Given the description of an element on the screen output the (x, y) to click on. 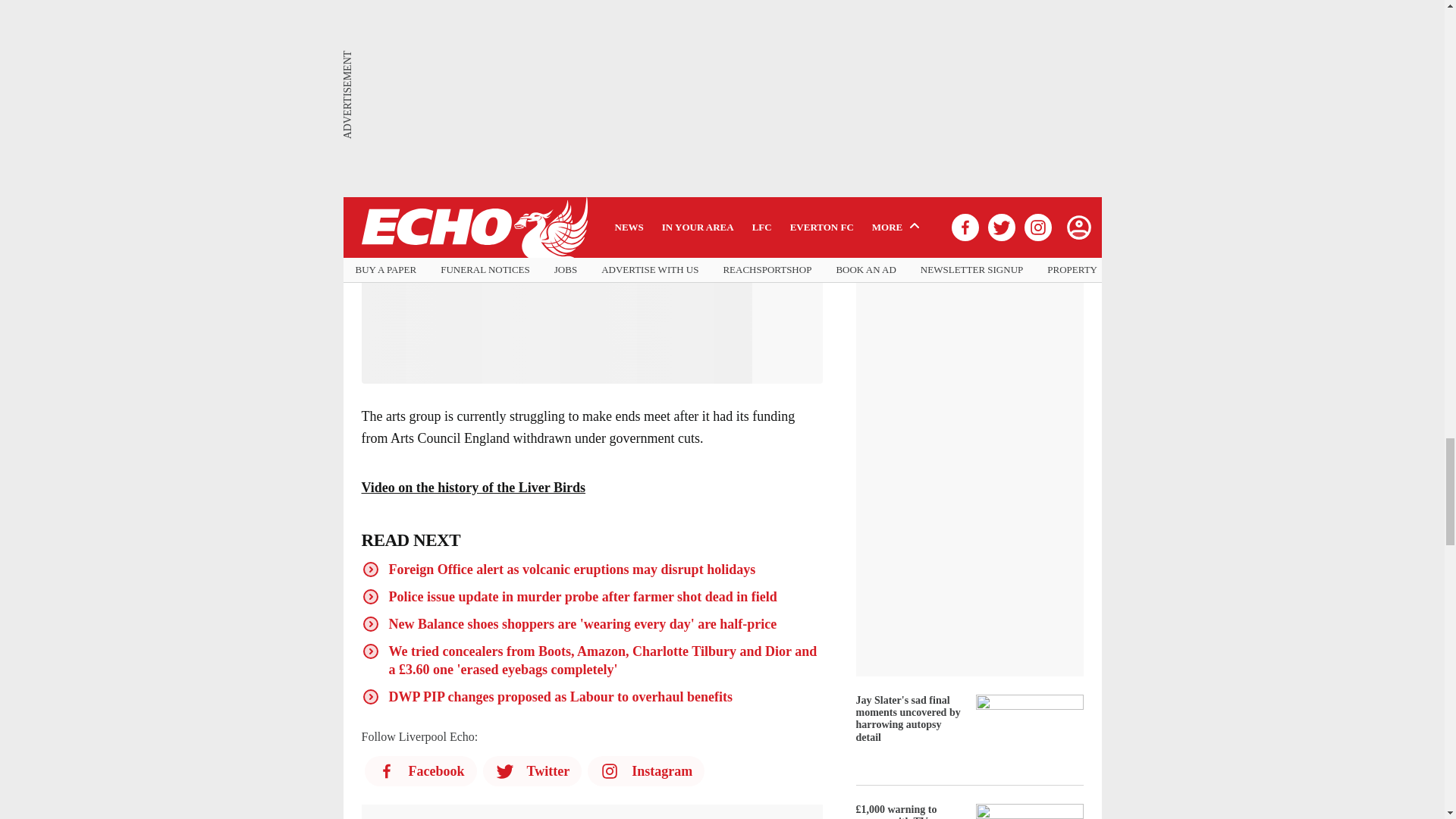
Read Next Article Icon (369, 624)
Twitter (530, 770)
DWP PIP changes proposed as Labour to overhaul benefits (560, 696)
Read Next Article Icon (369, 569)
Read Next Article Icon (369, 696)
Read Next Article Icon (369, 597)
Read Next Article Icon (369, 651)
Facebook (420, 770)
